Given the description of an element on the screen output the (x, y) to click on. 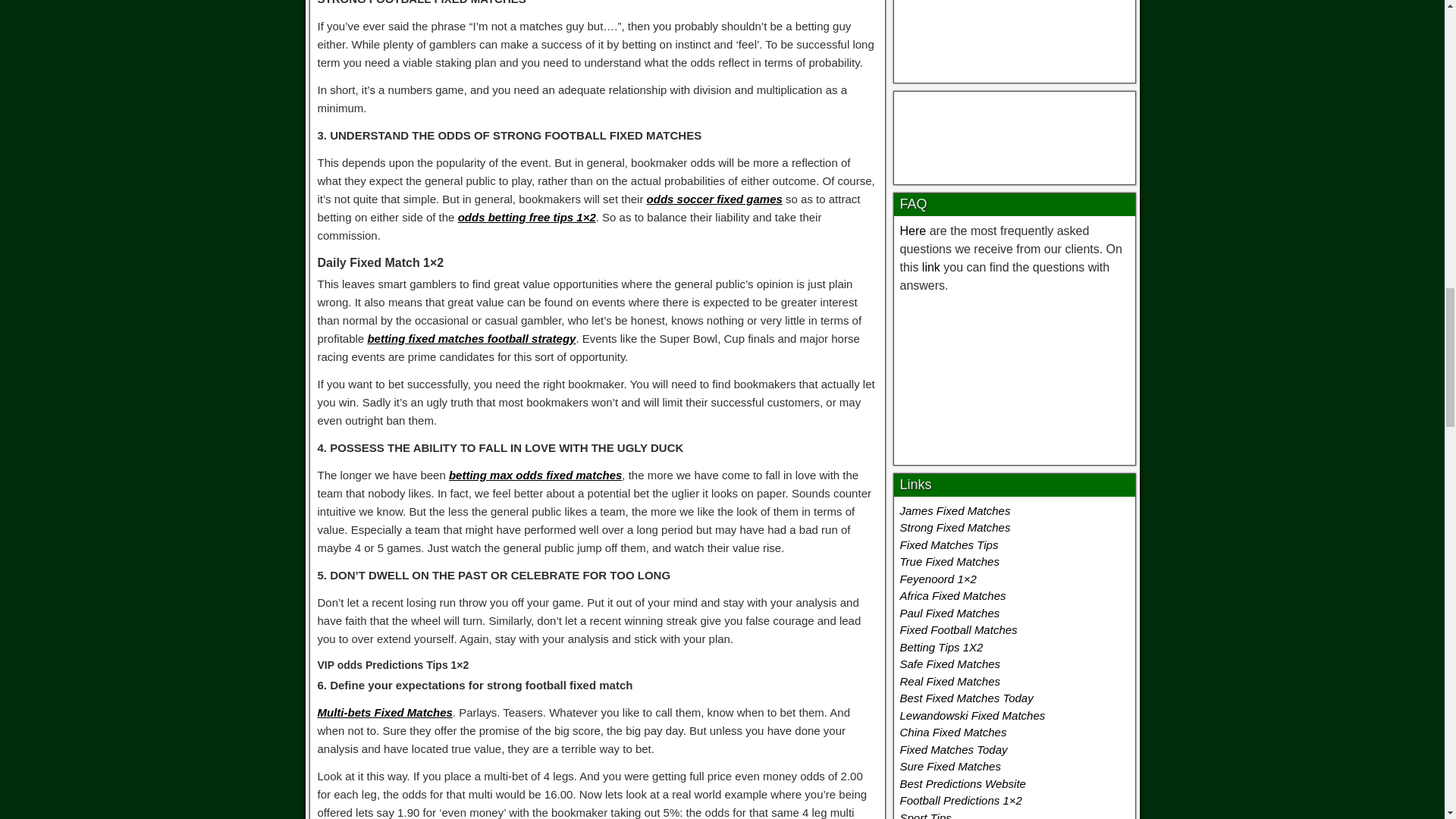
betting max odds fixed matches (534, 474)
Multi-bets Fixed Matches (384, 712)
winning tips predictions sources (1013, 33)
ticket big odds betting (1013, 376)
betting fixed matches football strategy (470, 338)
odds soccer fixed games (714, 198)
handicap h2h fixed matches betting (1014, 134)
